Given the description of an element on the screen output the (x, y) to click on. 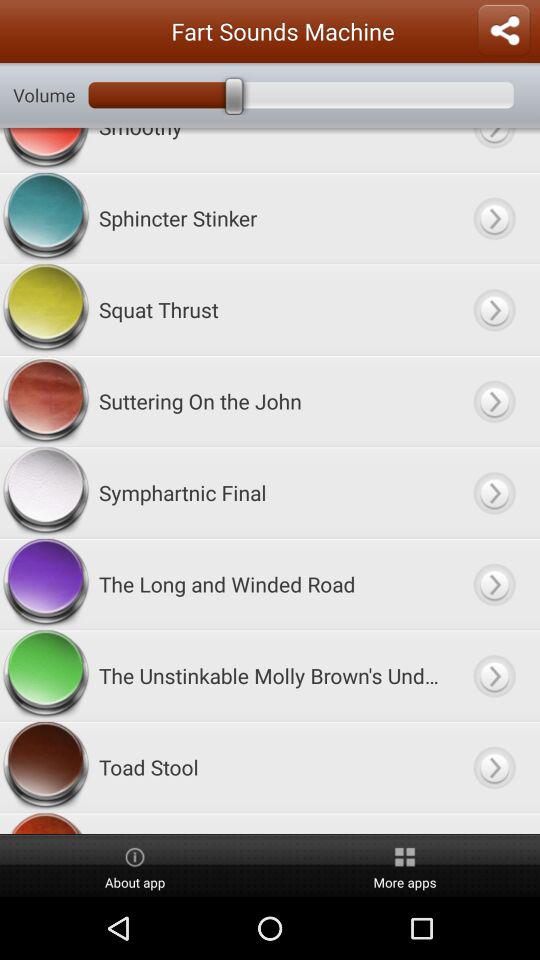
select item (494, 309)
